Given the description of an element on the screen output the (x, y) to click on. 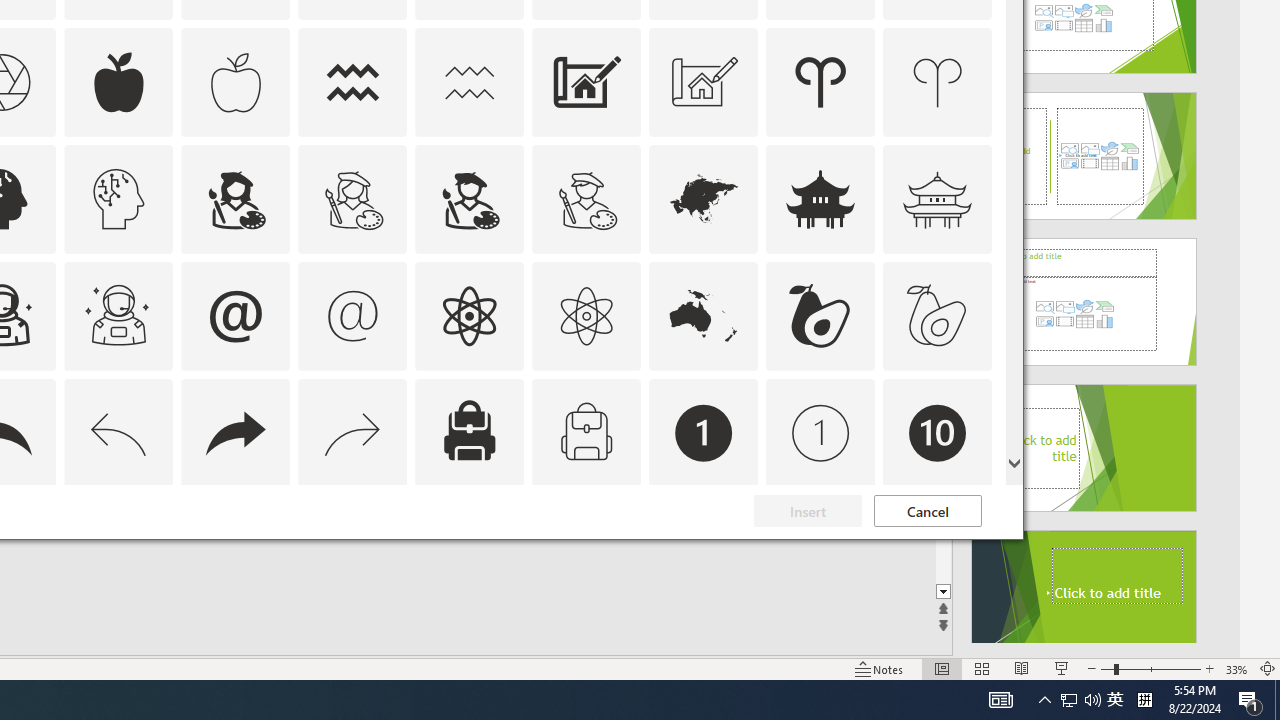
AutomationID: Icons_AsianTemple (820, 198)
AutomationID: Icons_Avocado_M (938, 316)
AutomationID: Icons_Badge6 (118, 550)
AutomationID: Icons_At_M (353, 316)
AutomationID: Icons_ArtistFemale_M (353, 198)
AutomationID: Icons_Badge7 (353, 550)
AutomationID: Icons_At (235, 316)
AutomationID: Icons_ArtificialIntelligence_M (118, 198)
